Given the description of an element on the screen output the (x, y) to click on. 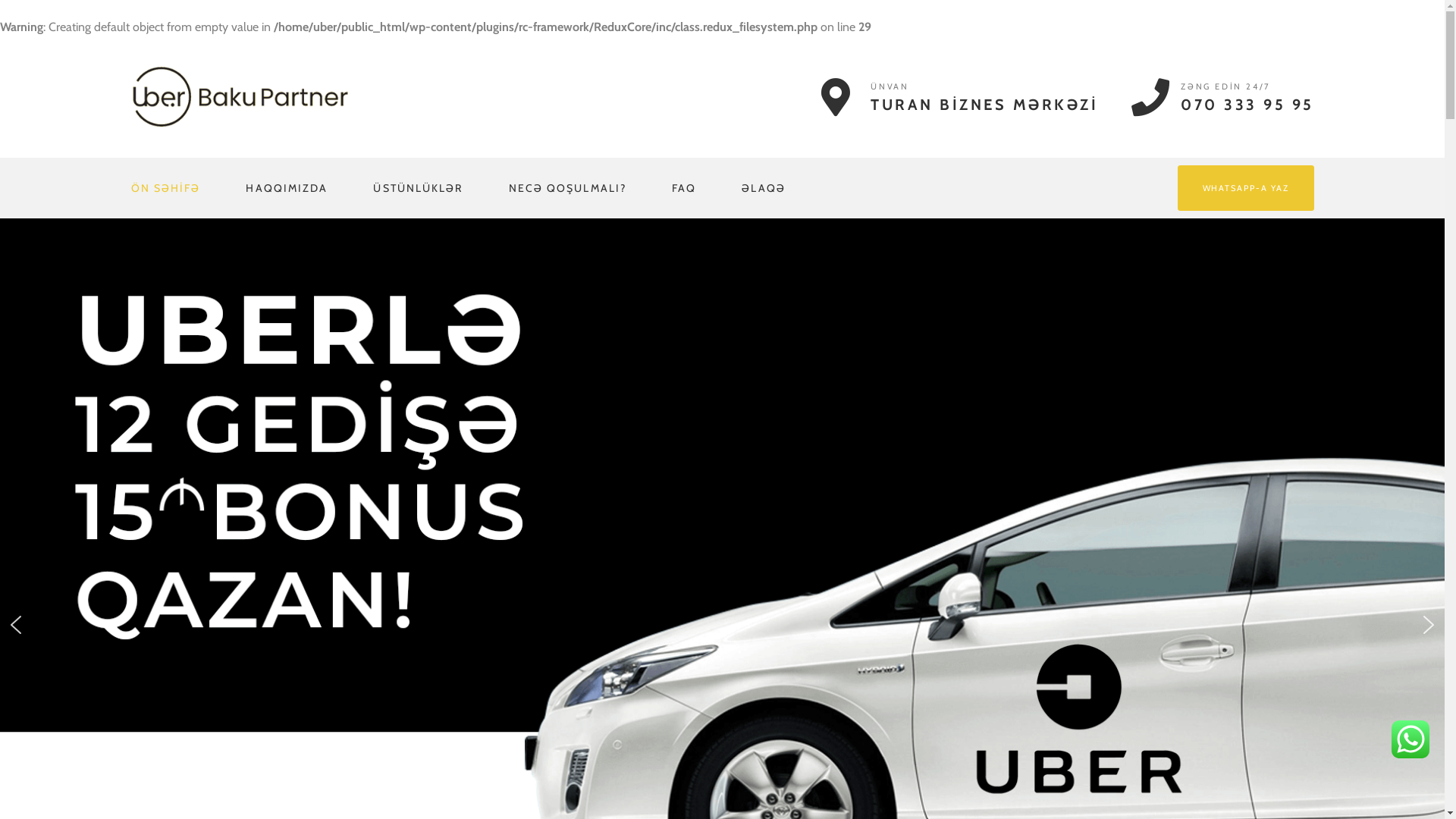
WHATSAPP-A YAZ Element type: text (1245, 187)
Uber Baku Partnyor Element type: hover (239, 95)
FAQ Element type: text (683, 187)
070 333 95 95 Element type: text (1247, 104)
HAQQIMIZDA Element type: text (286, 187)
